Given the description of an element on the screen output the (x, y) to click on. 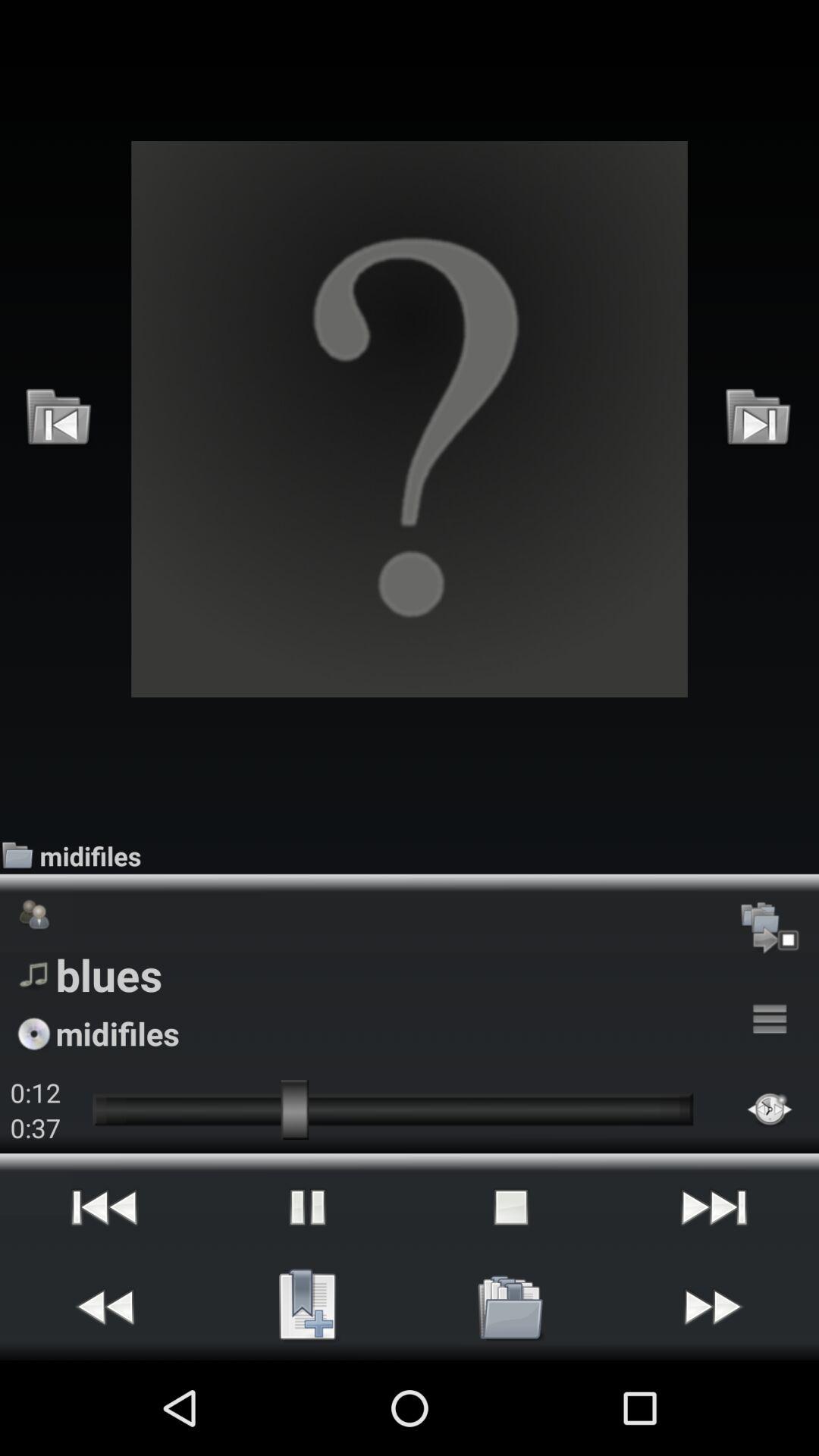
choose the icon next to blues (770, 1019)
